Given the description of an element on the screen output the (x, y) to click on. 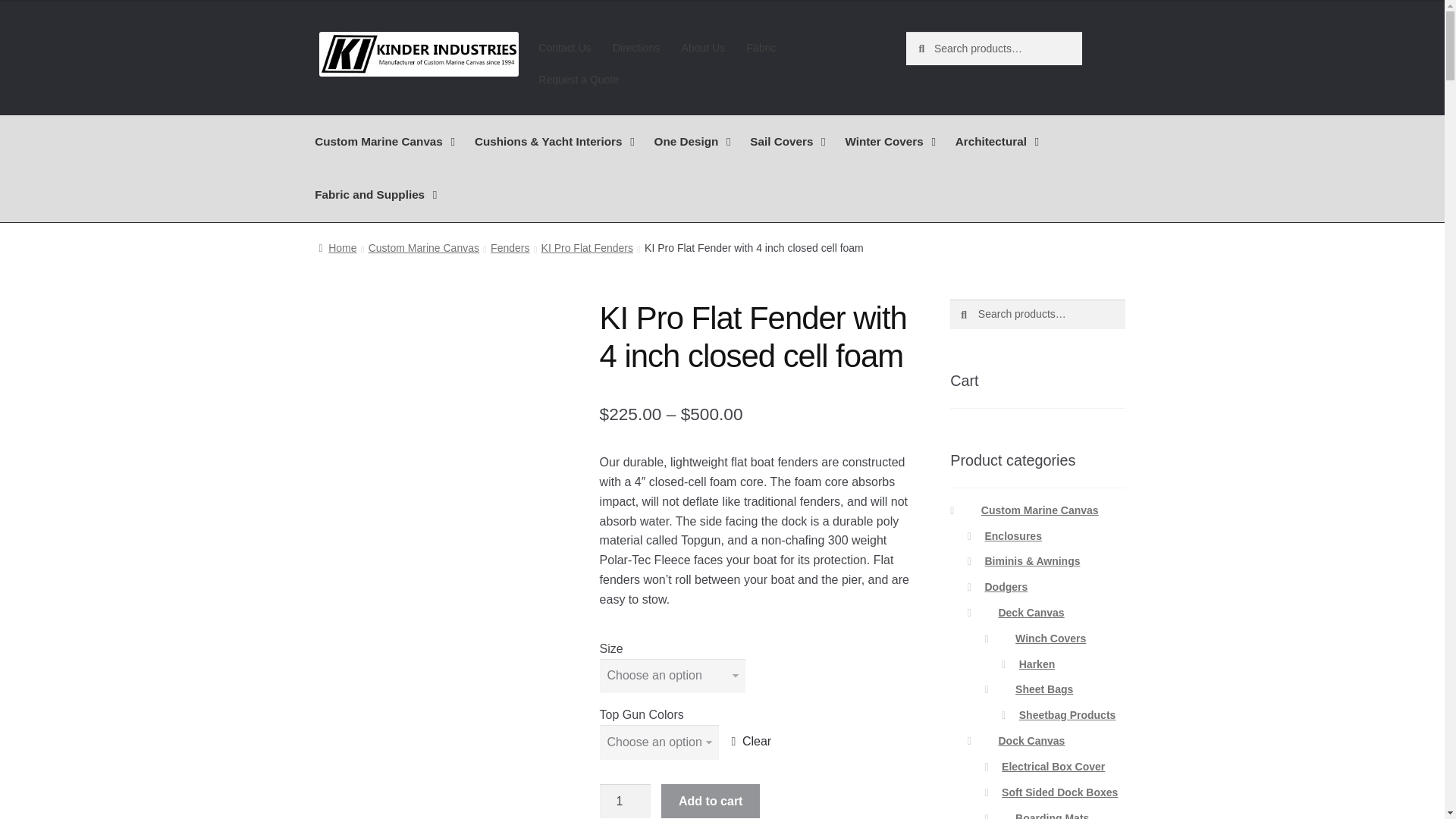
About Us (702, 47)
Directions (636, 47)
1 (624, 801)
Custom Marine Canvas (385, 141)
One Design (692, 141)
Request a Quote (578, 79)
Fabric (760, 47)
Contact Us (564, 47)
